Given the description of an element on the screen output the (x, y) to click on. 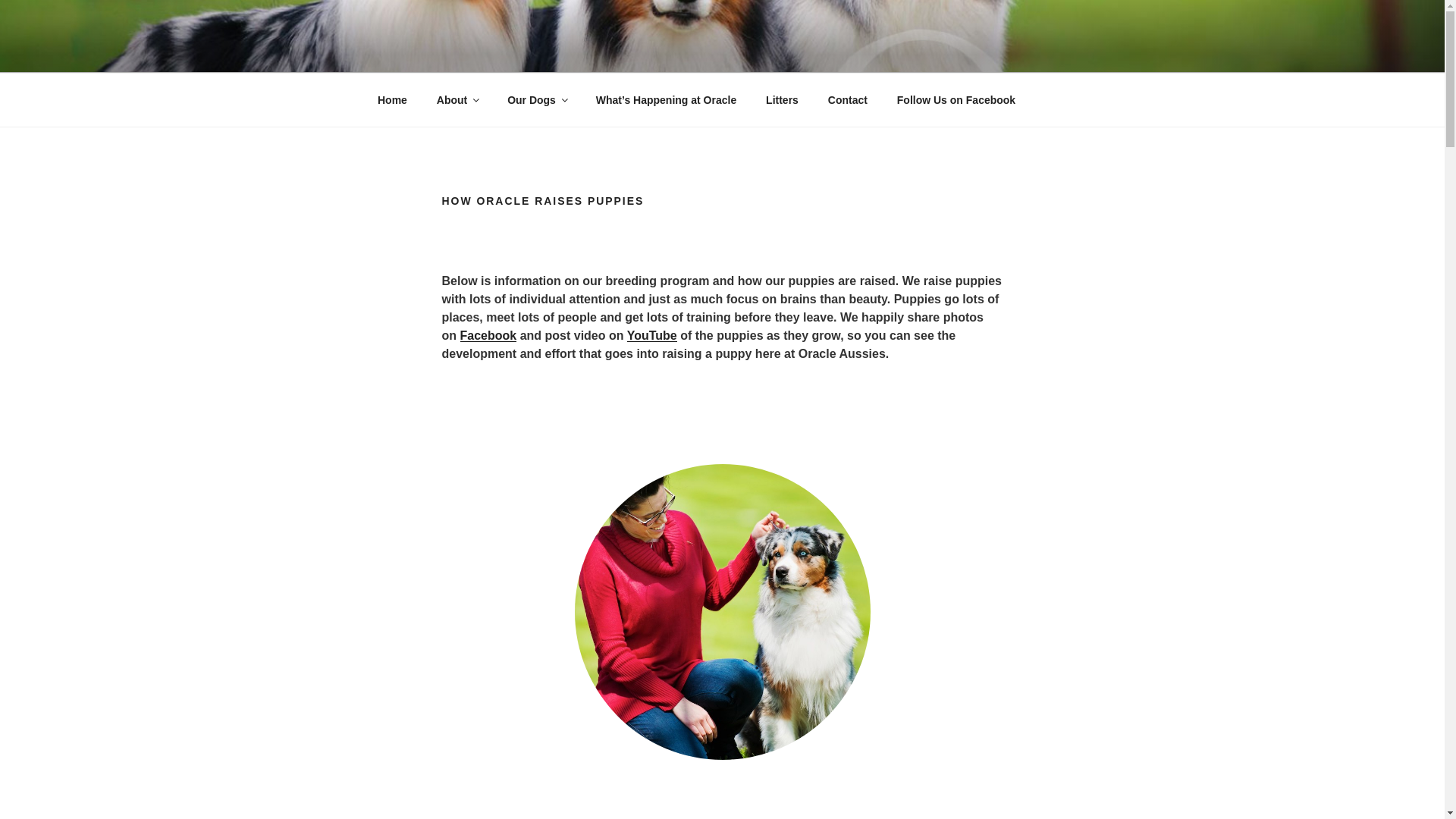
Our Dogs (537, 99)
About (456, 99)
Facebook (488, 335)
YouTube (652, 335)
Home (392, 99)
Contact (846, 99)
Follow Us on Facebook (955, 99)
ORACLE AUSSIES (514, 52)
Litters (782, 99)
